Given the description of an element on the screen output the (x, y) to click on. 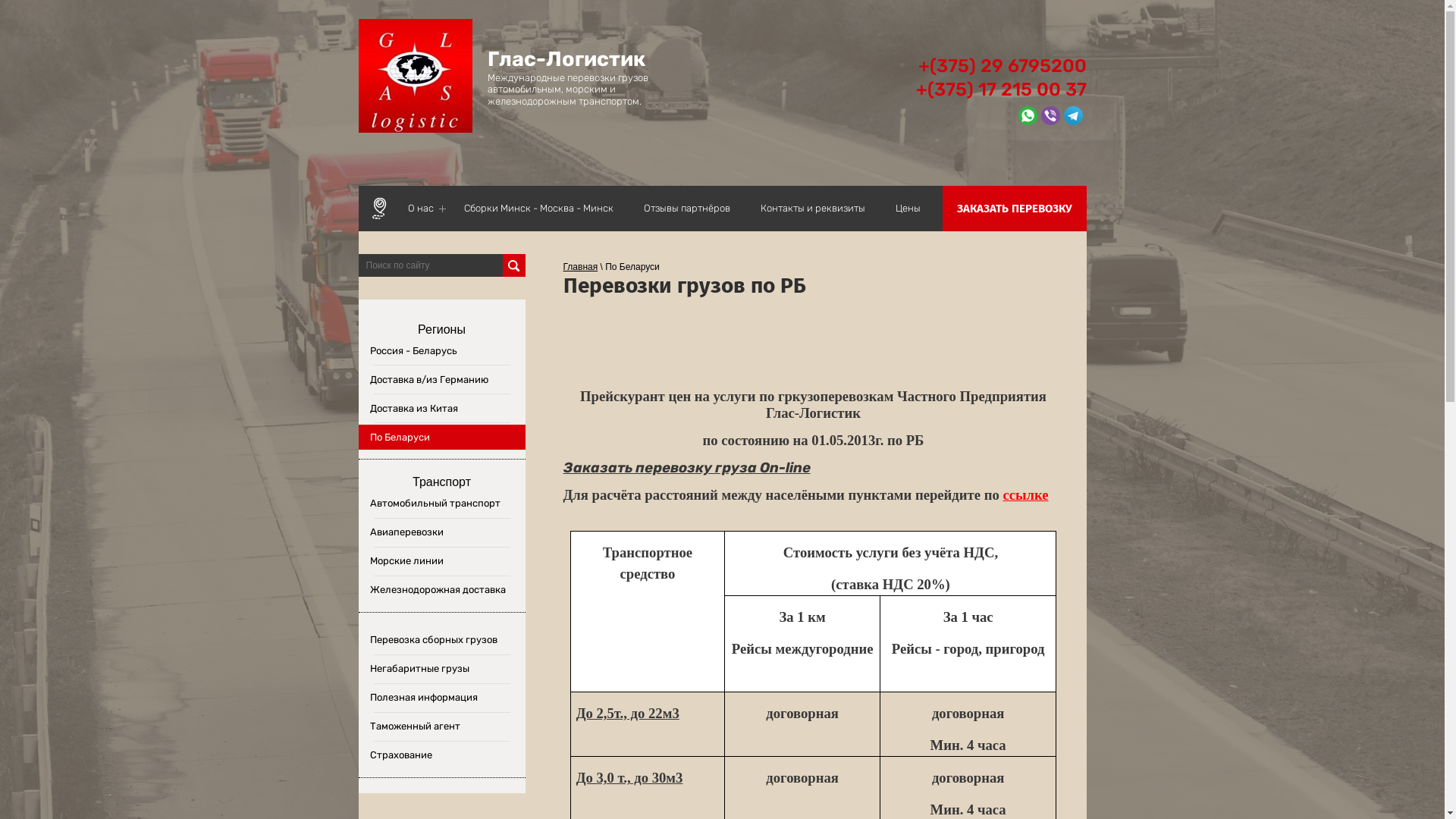
+(375) 17 215 00 37 Element type: text (1001, 89)
+(375) 29 6795200 Element type: text (1001, 65)
